Given the description of an element on the screen output the (x, y) to click on. 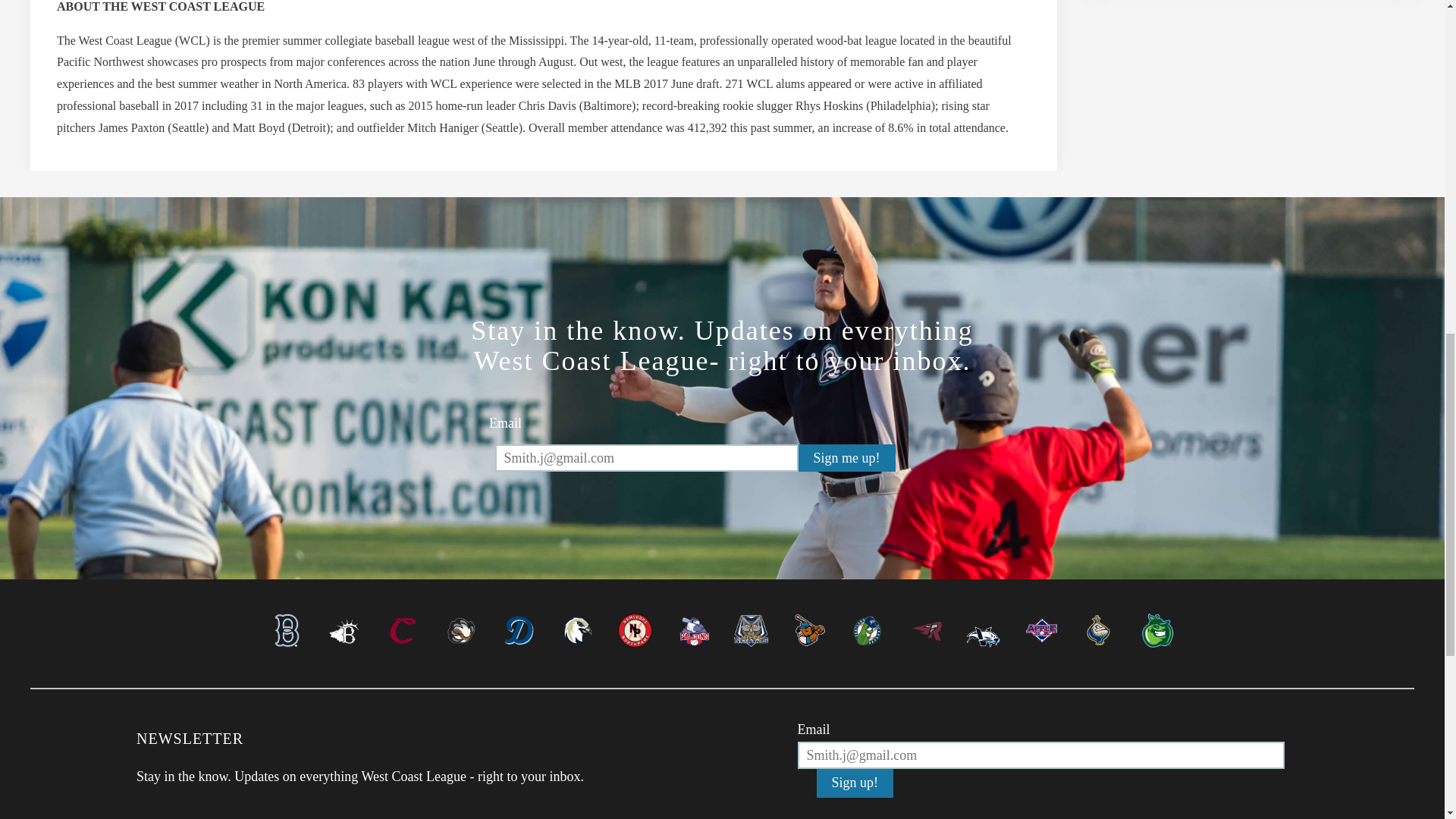
Sign me up! (846, 457)
Sign up! (854, 783)
